Given the description of an element on the screen output the (x, y) to click on. 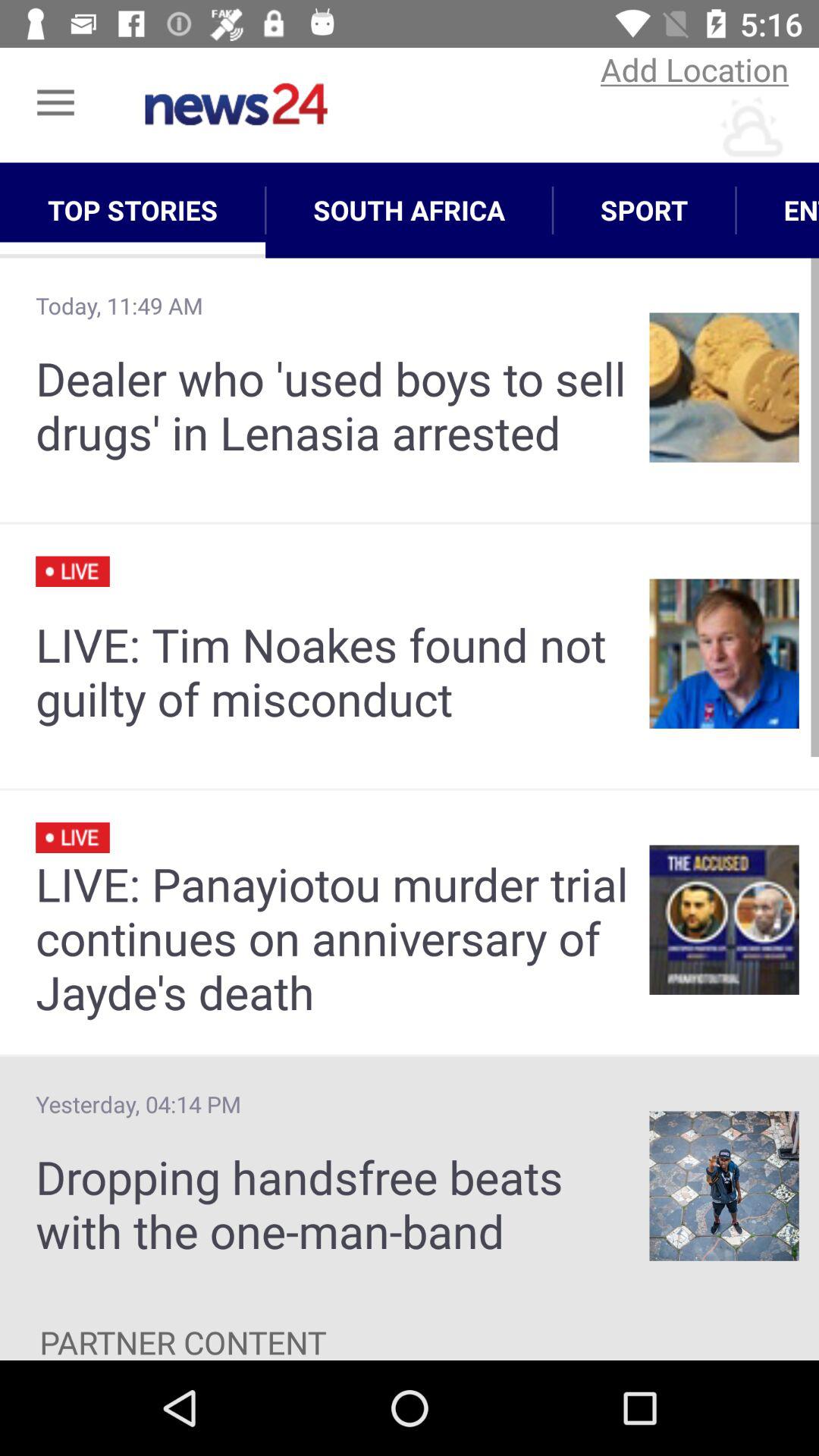
launch sport icon (643, 210)
